Given the description of an element on the screen output the (x, y) to click on. 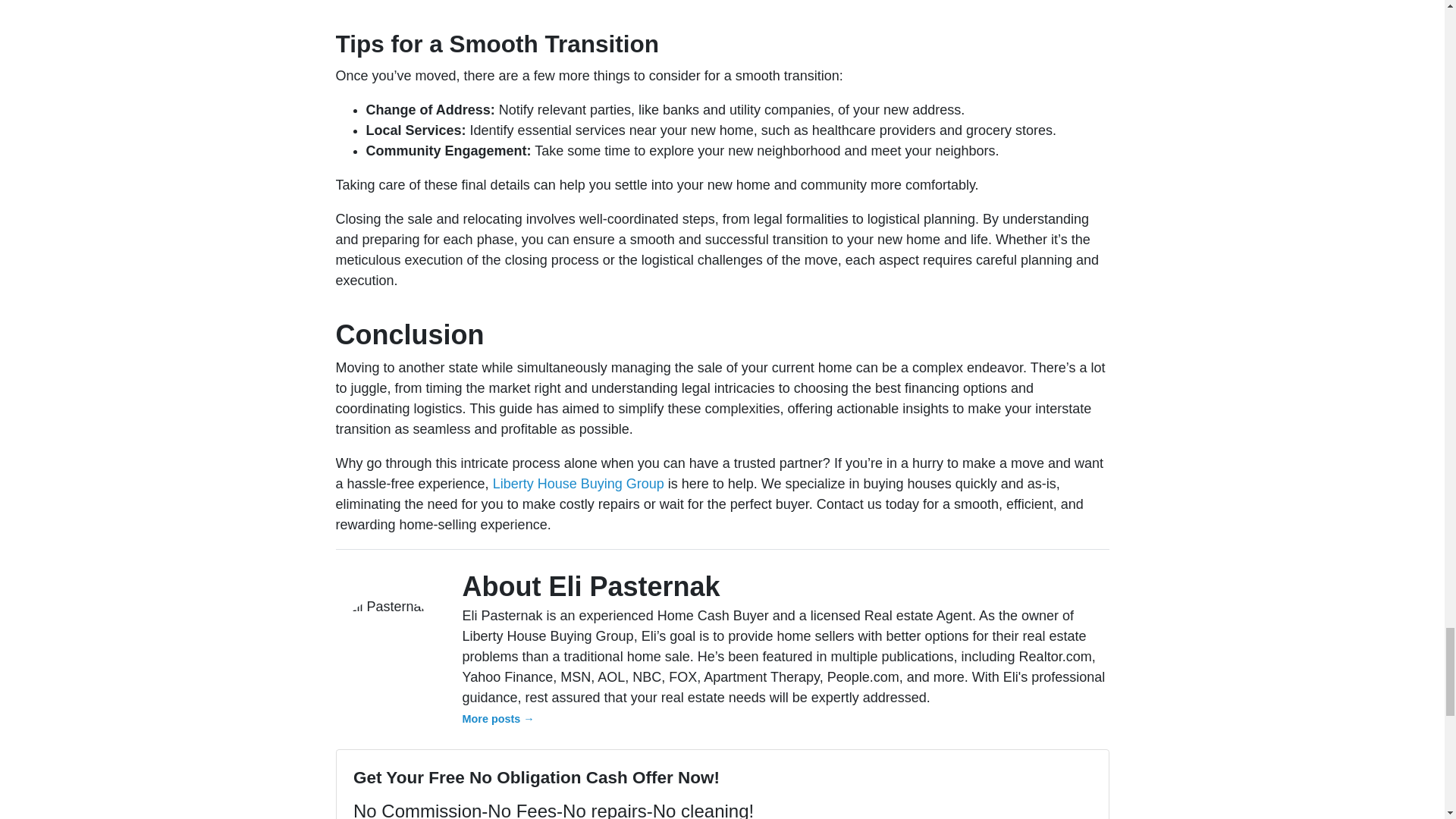
Liberty House Buying Group (578, 483)
